Given the description of an element on the screen output the (x, y) to click on. 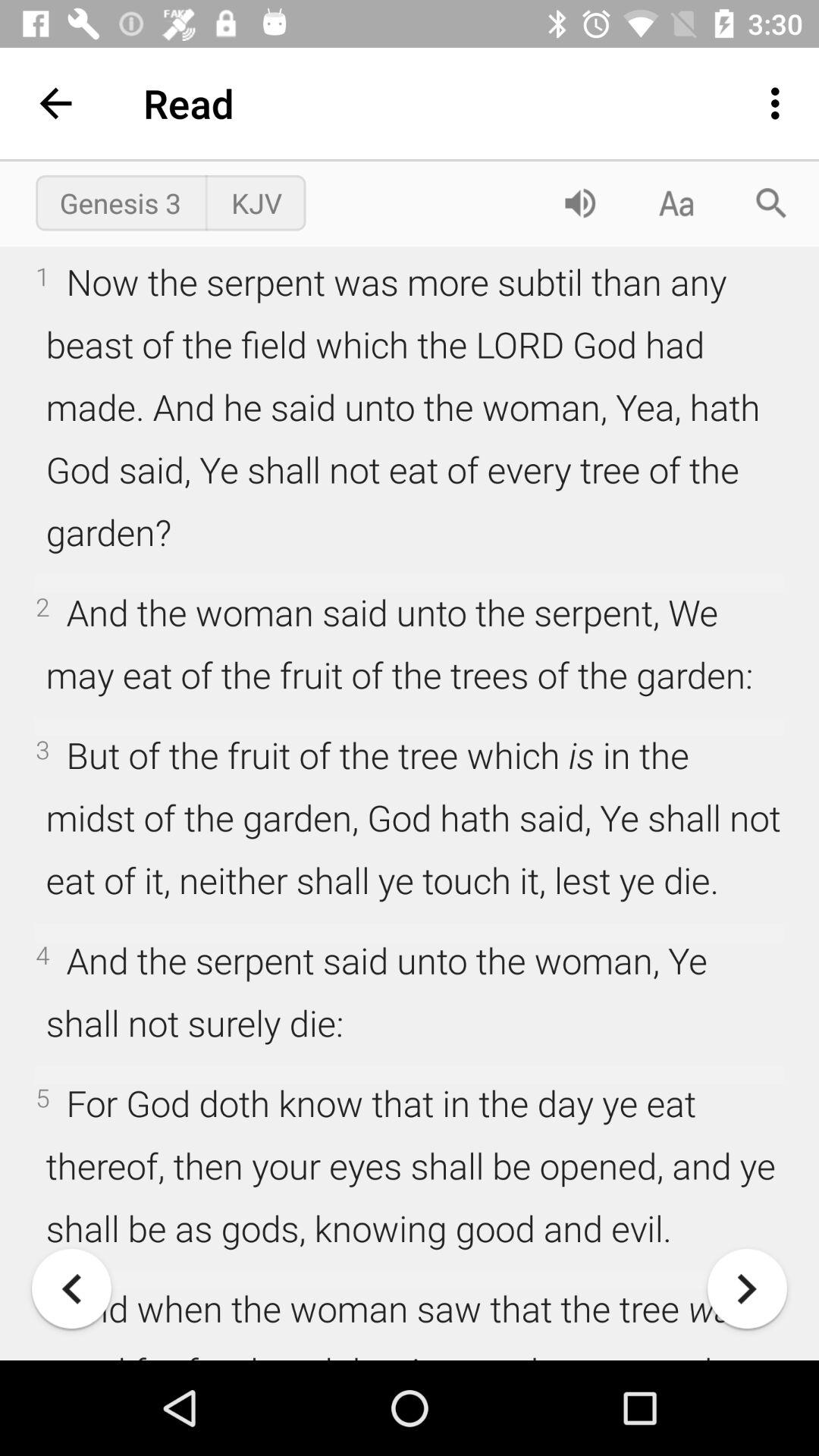
turn off the item above the 1 now the (771, 202)
